Given the description of an element on the screen output the (x, y) to click on. 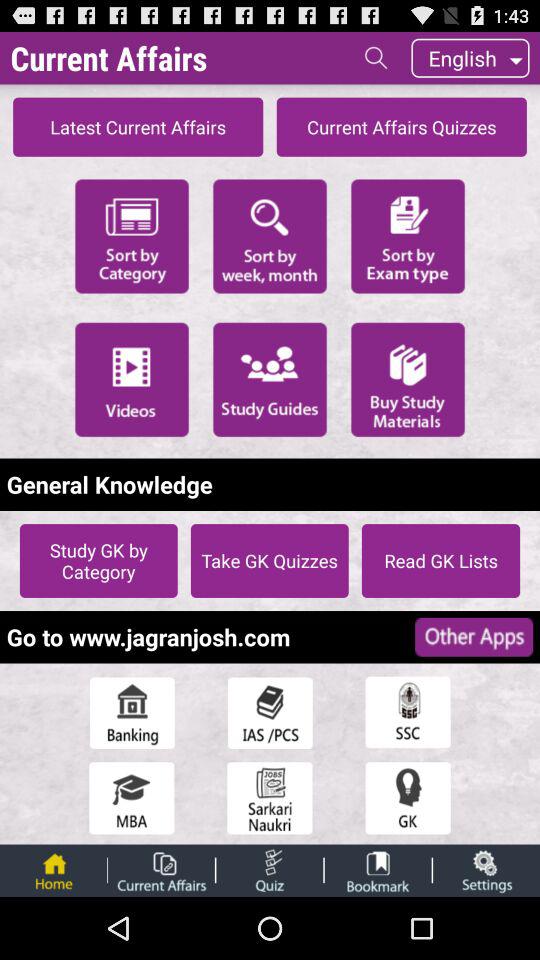
government job (269, 798)
